Given the description of an element on the screen output the (x, y) to click on. 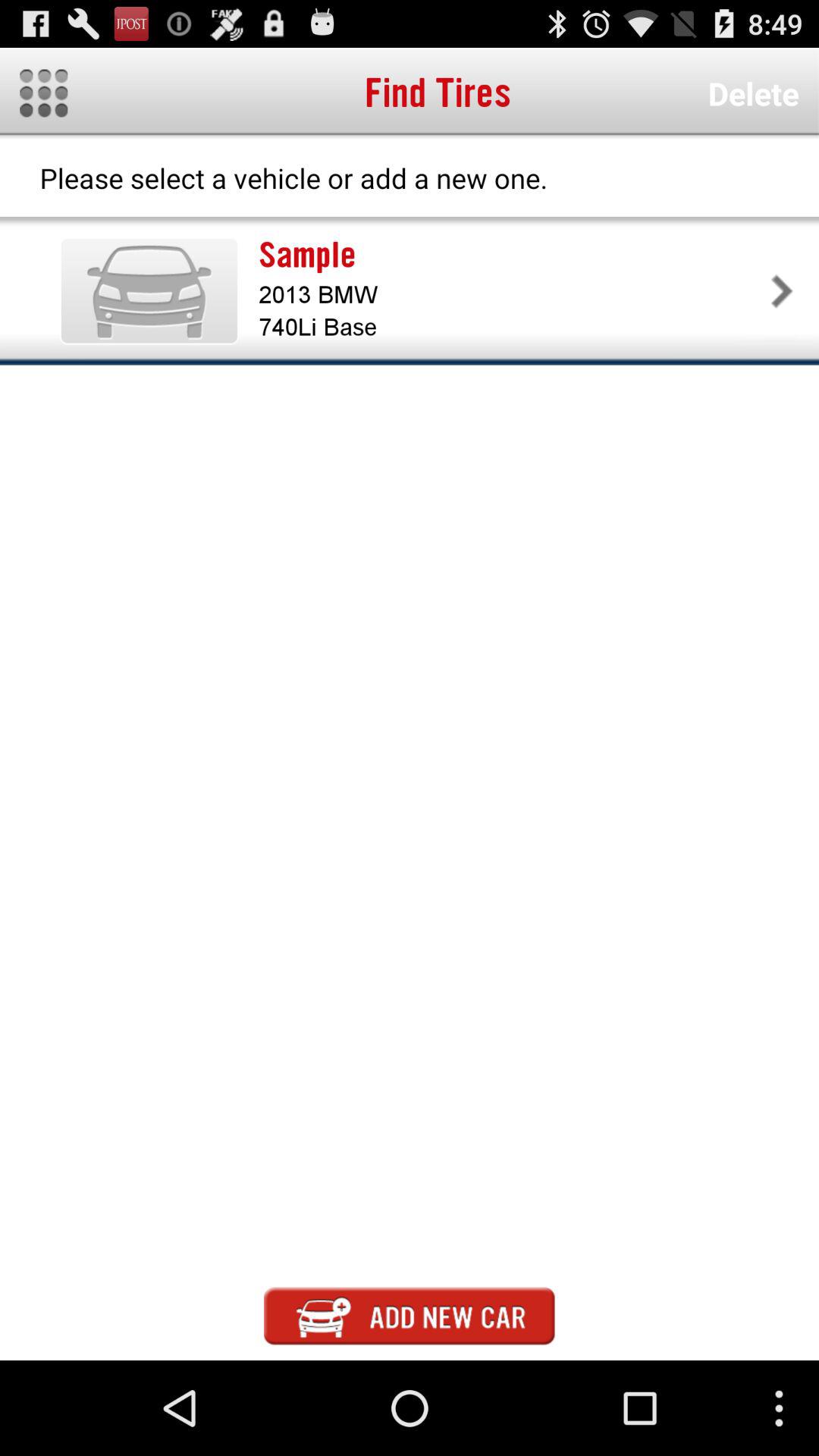
choose item next to the find tires icon (43, 93)
